Given the description of an element on the screen output the (x, y) to click on. 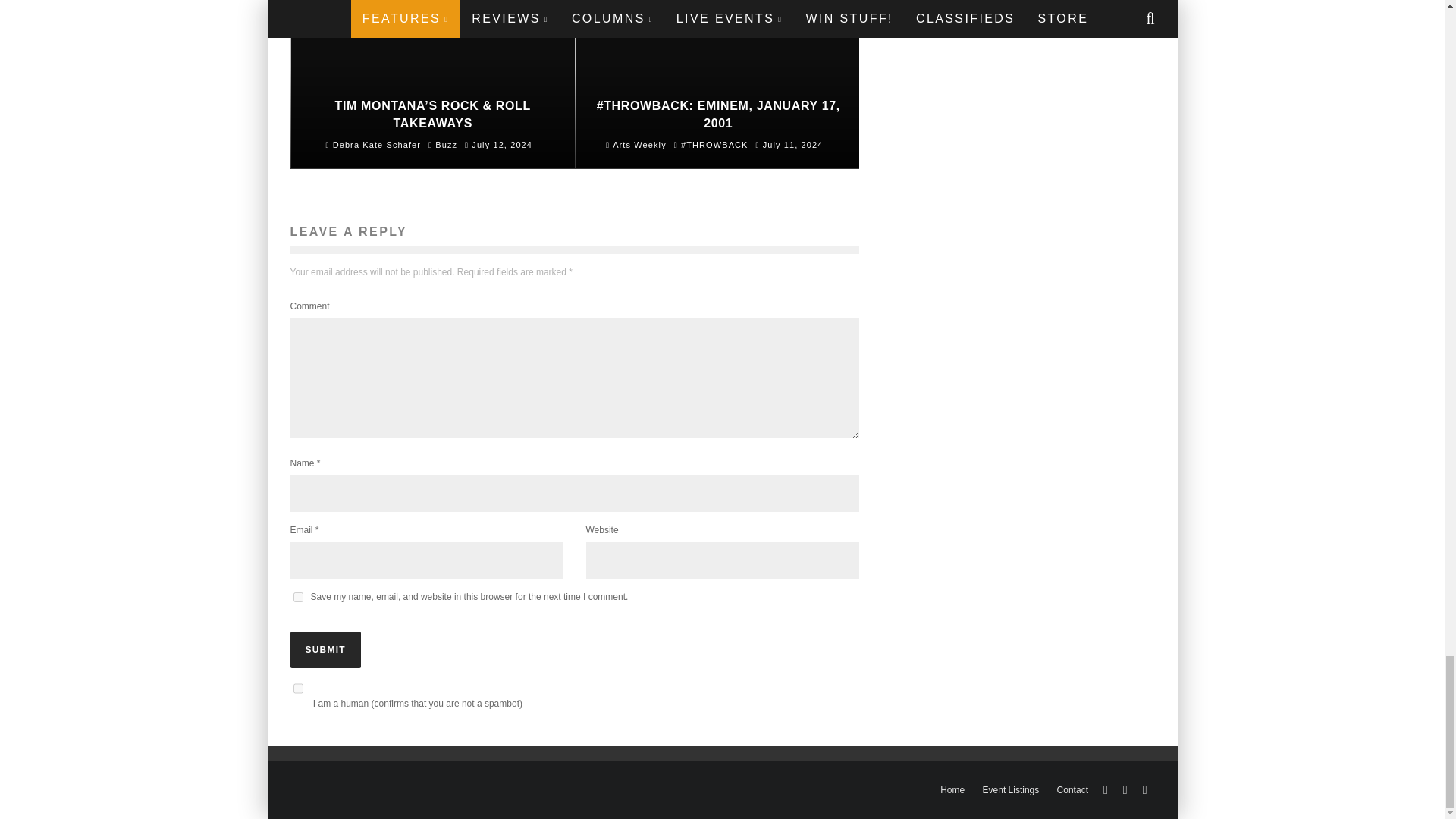
Submit (324, 649)
yes (297, 596)
on (297, 688)
